Given the description of an element on the screen output the (x, y) to click on. 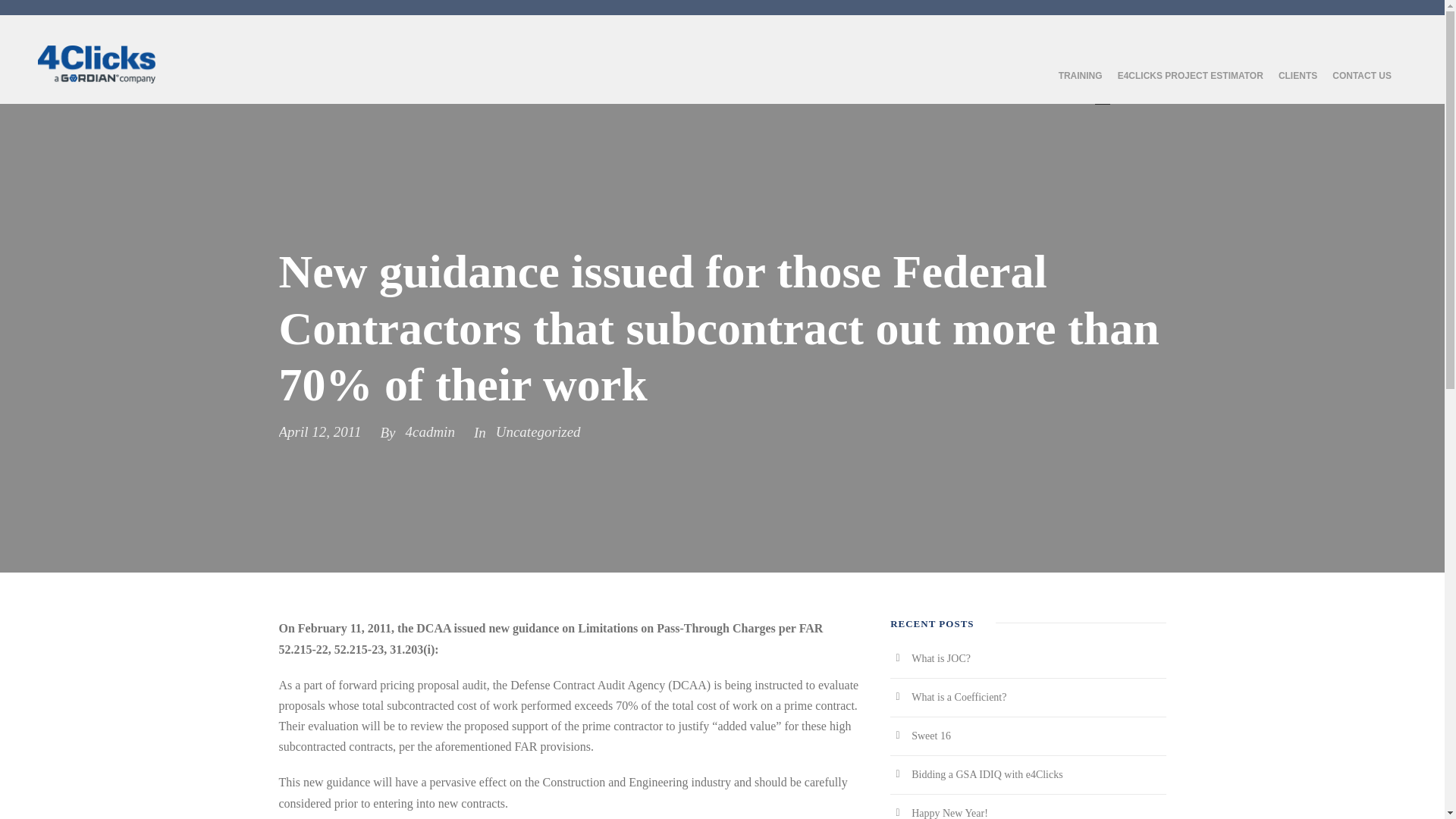
CONTACT US (1361, 85)
Uncategorized (538, 431)
4cadmin (429, 431)
CLIENTS (1297, 85)
Posts by 4cadmin (429, 431)
TRAINING (1080, 85)
April 12, 2011 (320, 431)
E4CLICKS PROJECT ESTIMATOR (1190, 85)
